Given the description of an element on the screen output the (x, y) to click on. 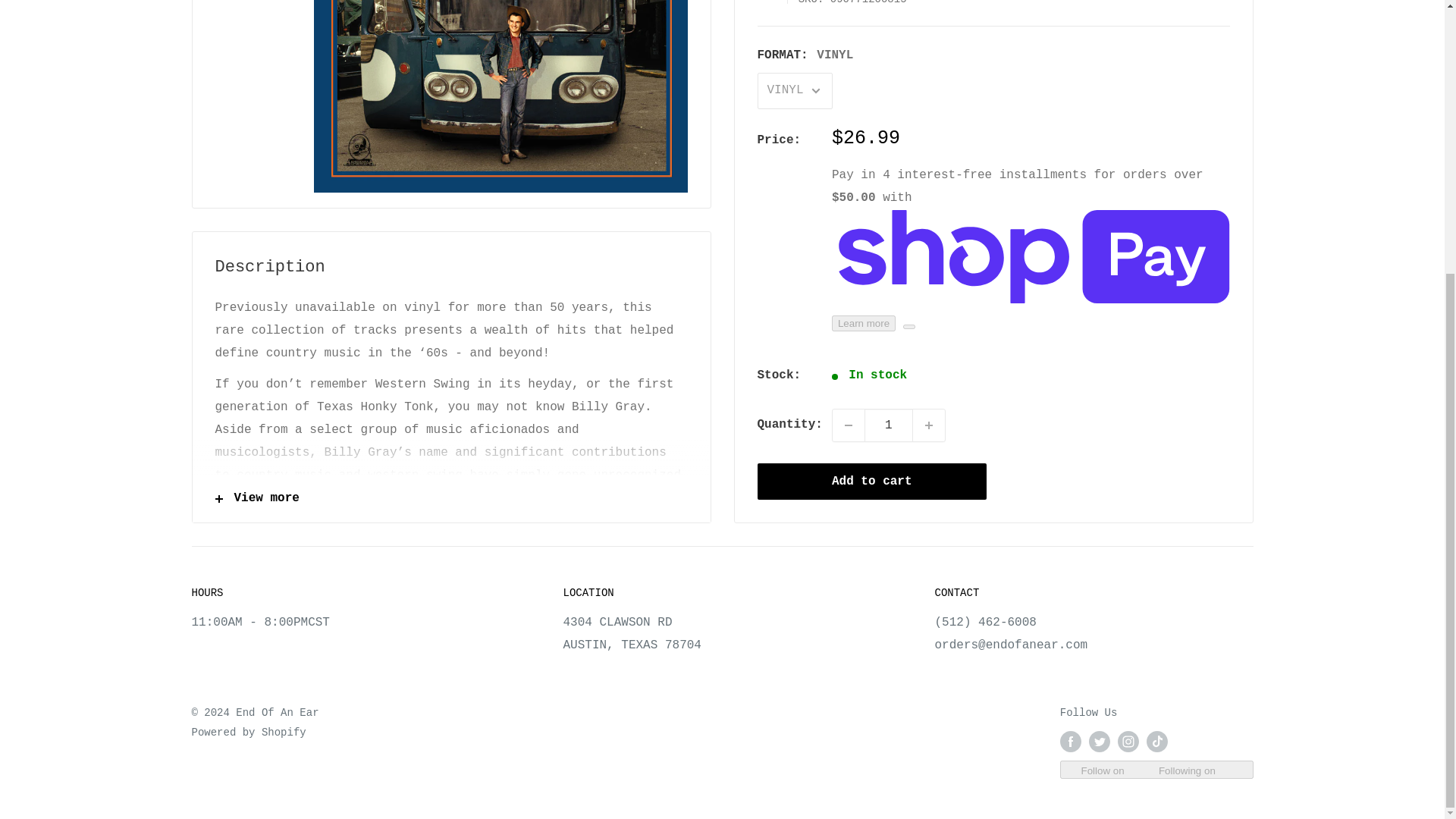
Decrease quantity by 1 (848, 319)
Increase quantity by 1 (928, 319)
1 (888, 319)
